Given the description of an element on the screen output the (x, y) to click on. 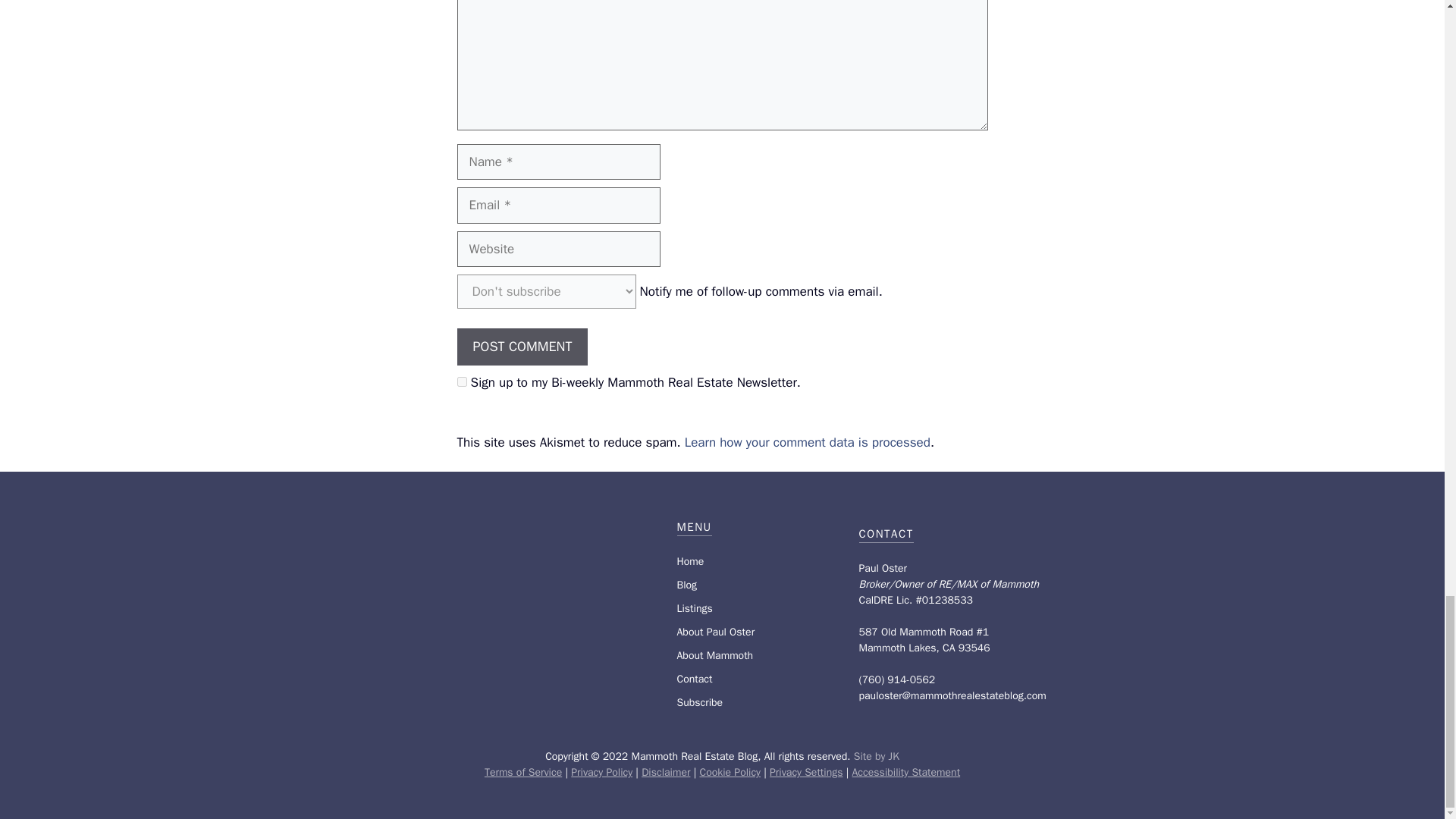
1 (461, 381)
Post Comment (522, 346)
Post Comment (522, 346)
